Given the description of an element on the screen output the (x, y) to click on. 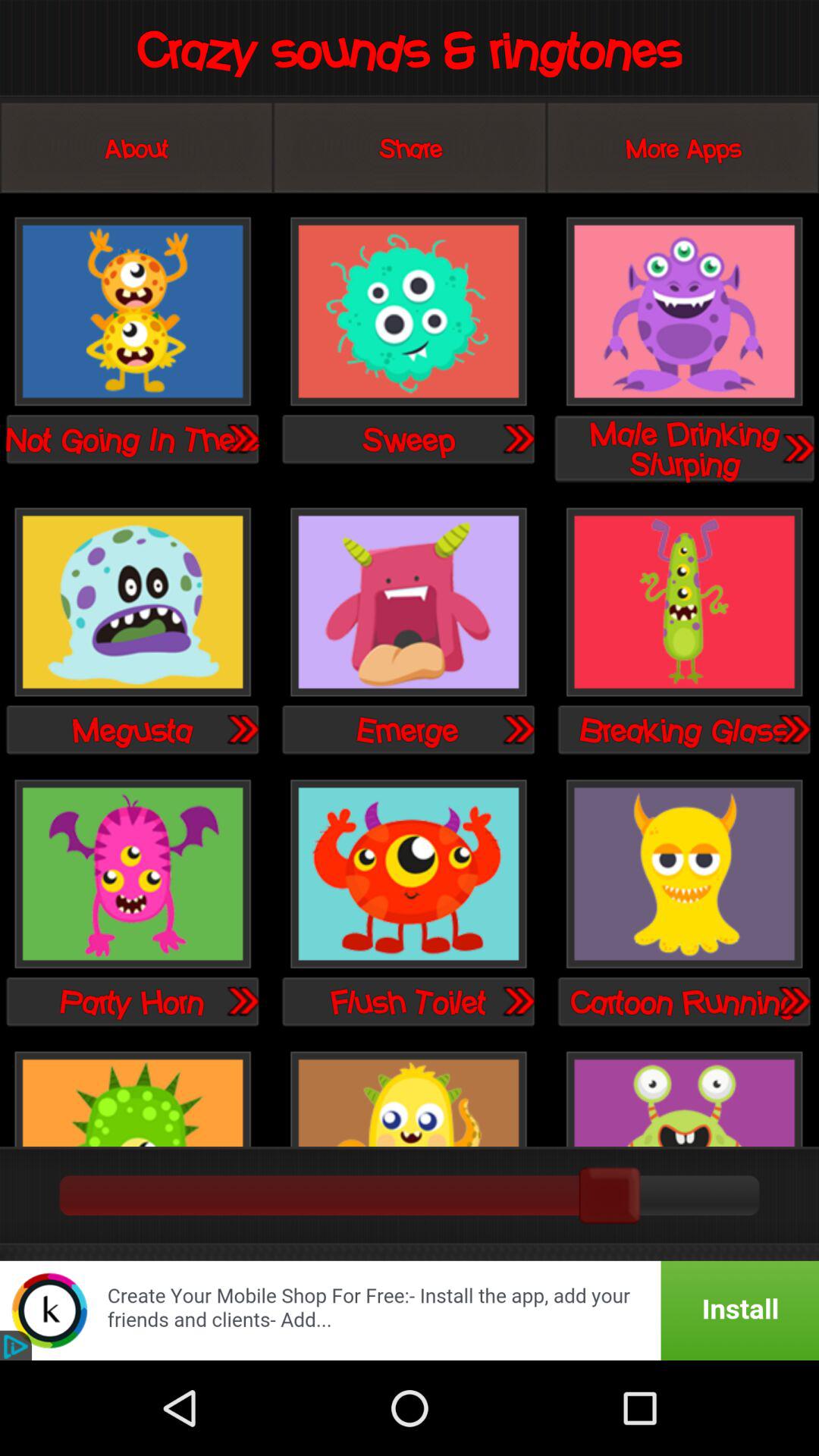
play sweep sound (518, 438)
